Given the description of an element on the screen output the (x, y) to click on. 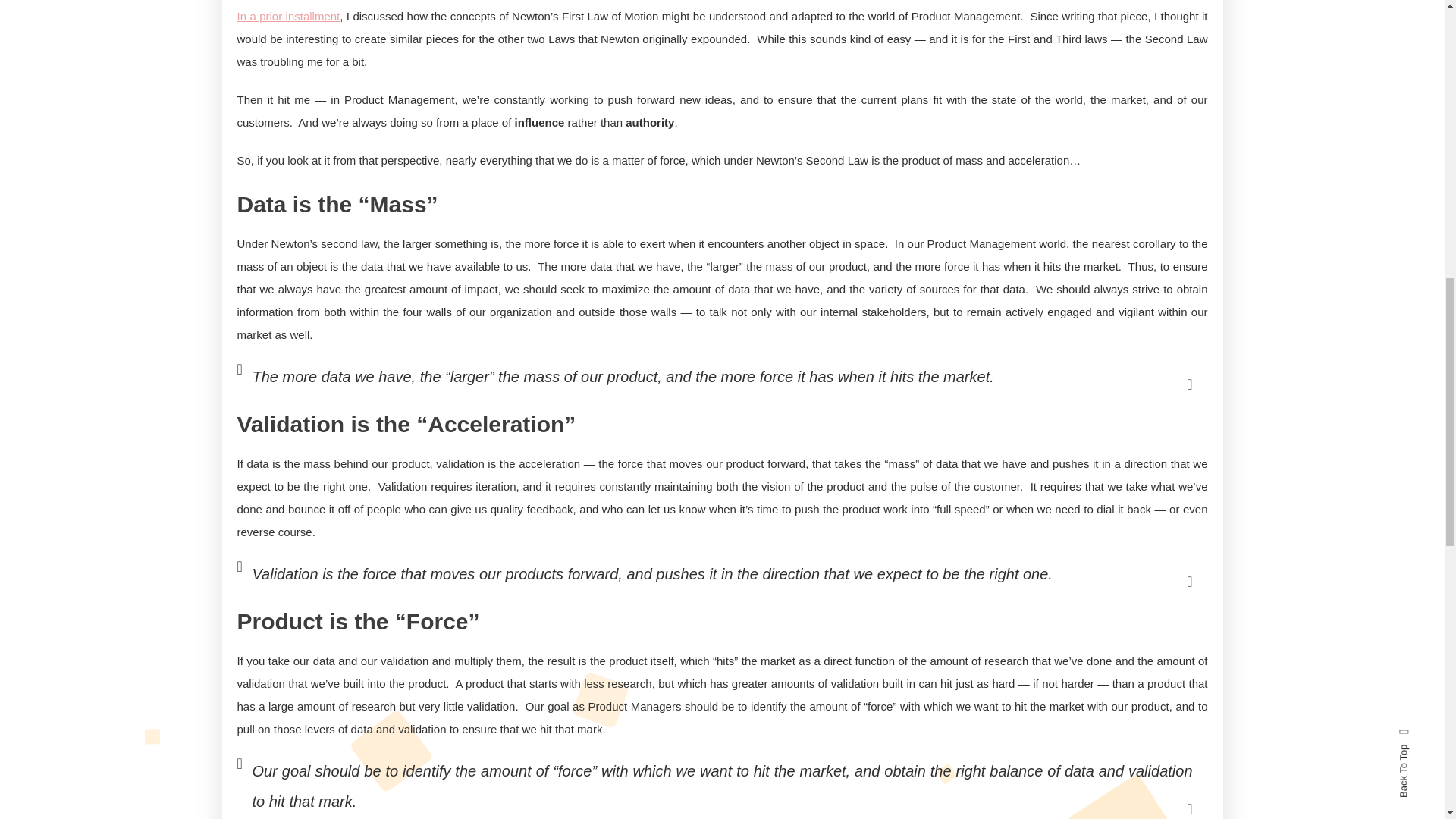
In a prior installment (287, 15)
